Given the description of an element on the screen output the (x, y) to click on. 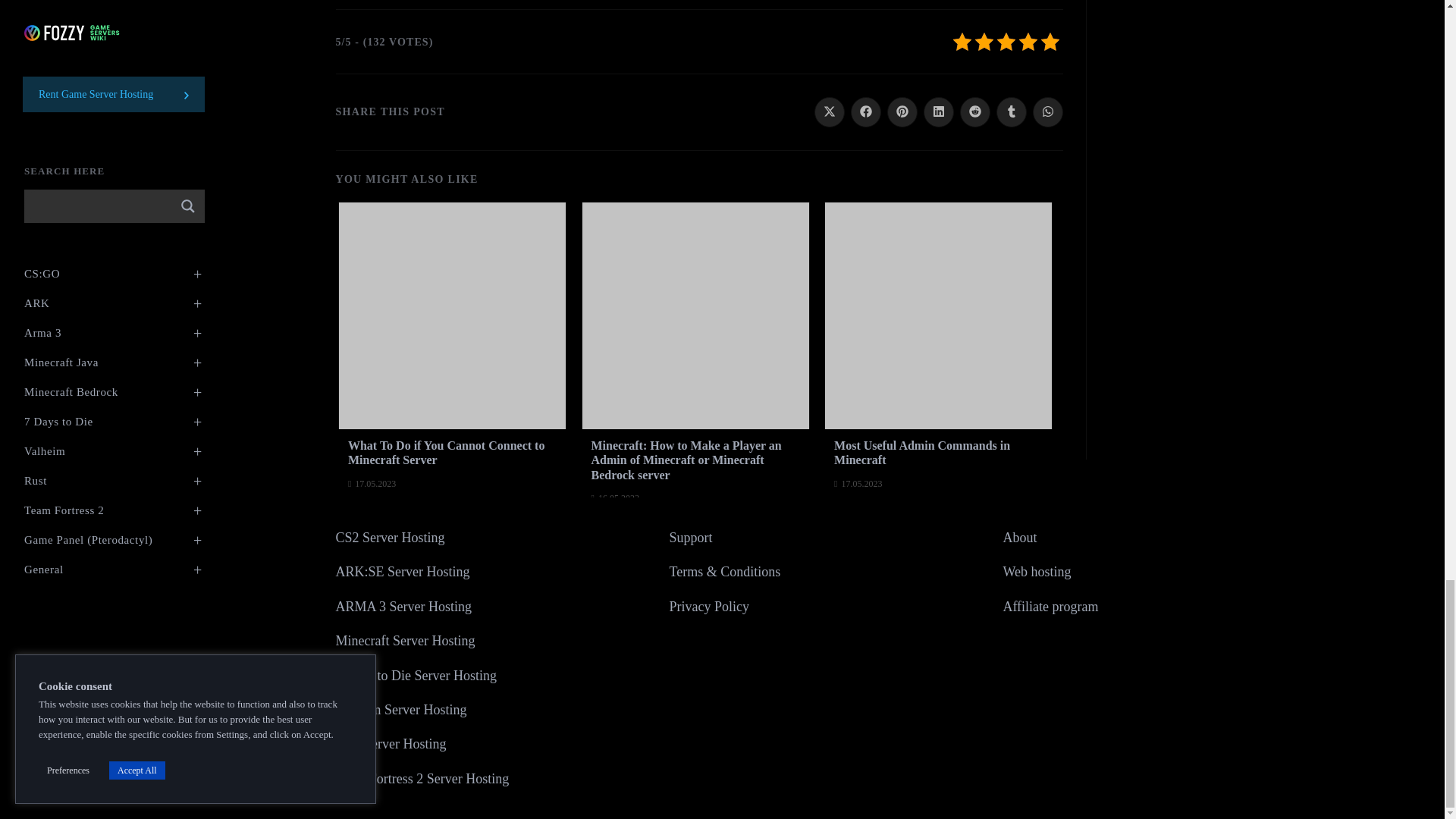
Rent 7 Days to Die Server Hosting (415, 675)
Rent CS:GO Server Hosting (389, 537)
View Other Web Hosting Services (1036, 571)
Rent Rust Server Hosting (389, 743)
Rent ARMA 3 Server Hosting (402, 606)
Earn Money by Referring  your Friends (1050, 606)
Contact Fozzy Support Team (689, 537)
Read Privacy Policy (708, 606)
Rent Minecraft Server Hosting (404, 640)
Rent Team Fortress 2 Server Hosting (421, 778)
Rent Valheim Server Hosting (399, 709)
Rent ARK:SE Server Hosting (401, 571)
Read About Fozzy Game Servers (1019, 537)
